Given the description of an element on the screen output the (x, y) to click on. 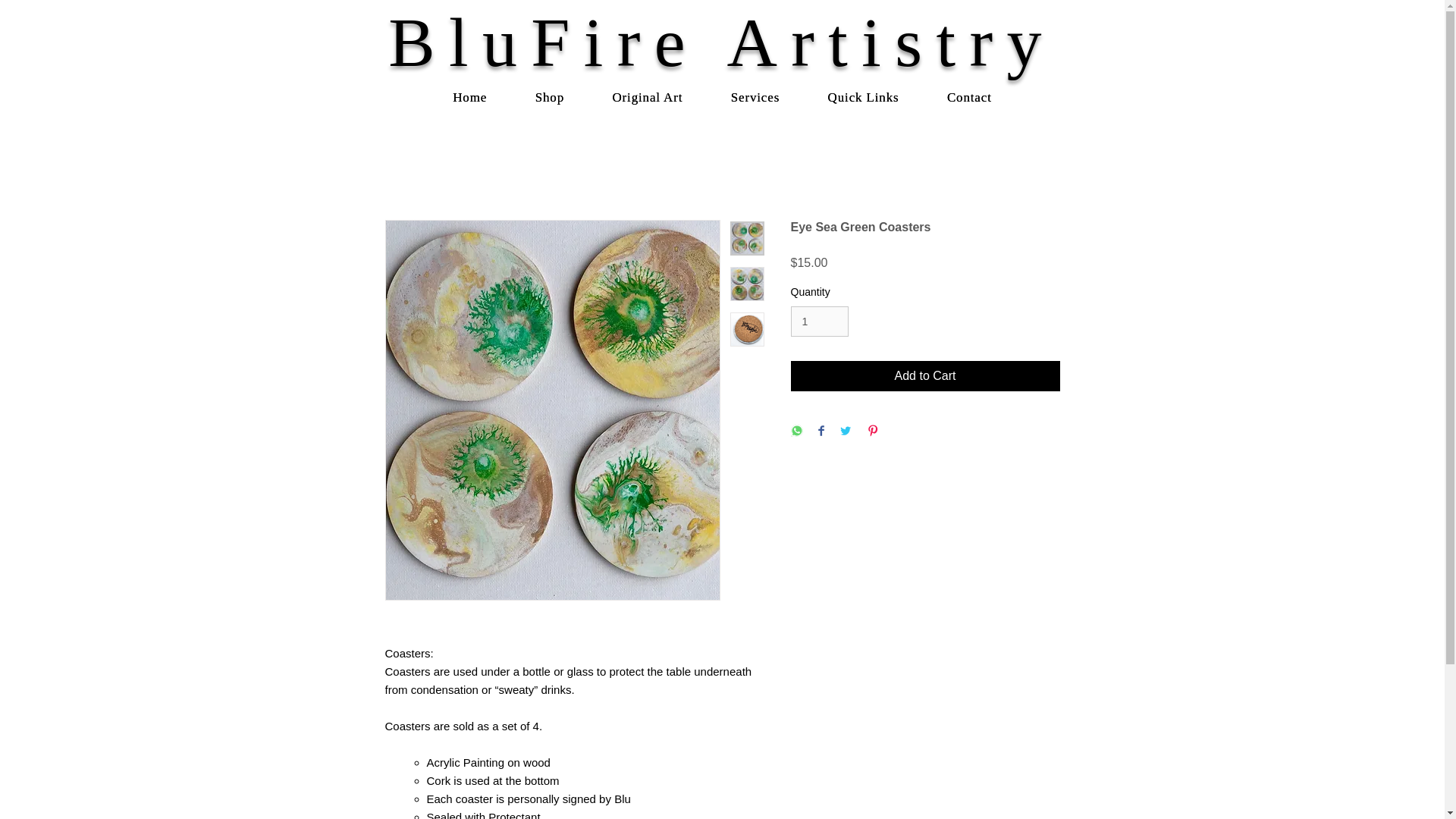
BluFire Artistry (721, 41)
Original Art (647, 97)
Add to Cart (924, 376)
Shop (549, 97)
1 (818, 321)
Services (755, 97)
Contact (968, 97)
Quick Links (863, 97)
Home (470, 97)
